Given the description of an element on the screen output the (x, y) to click on. 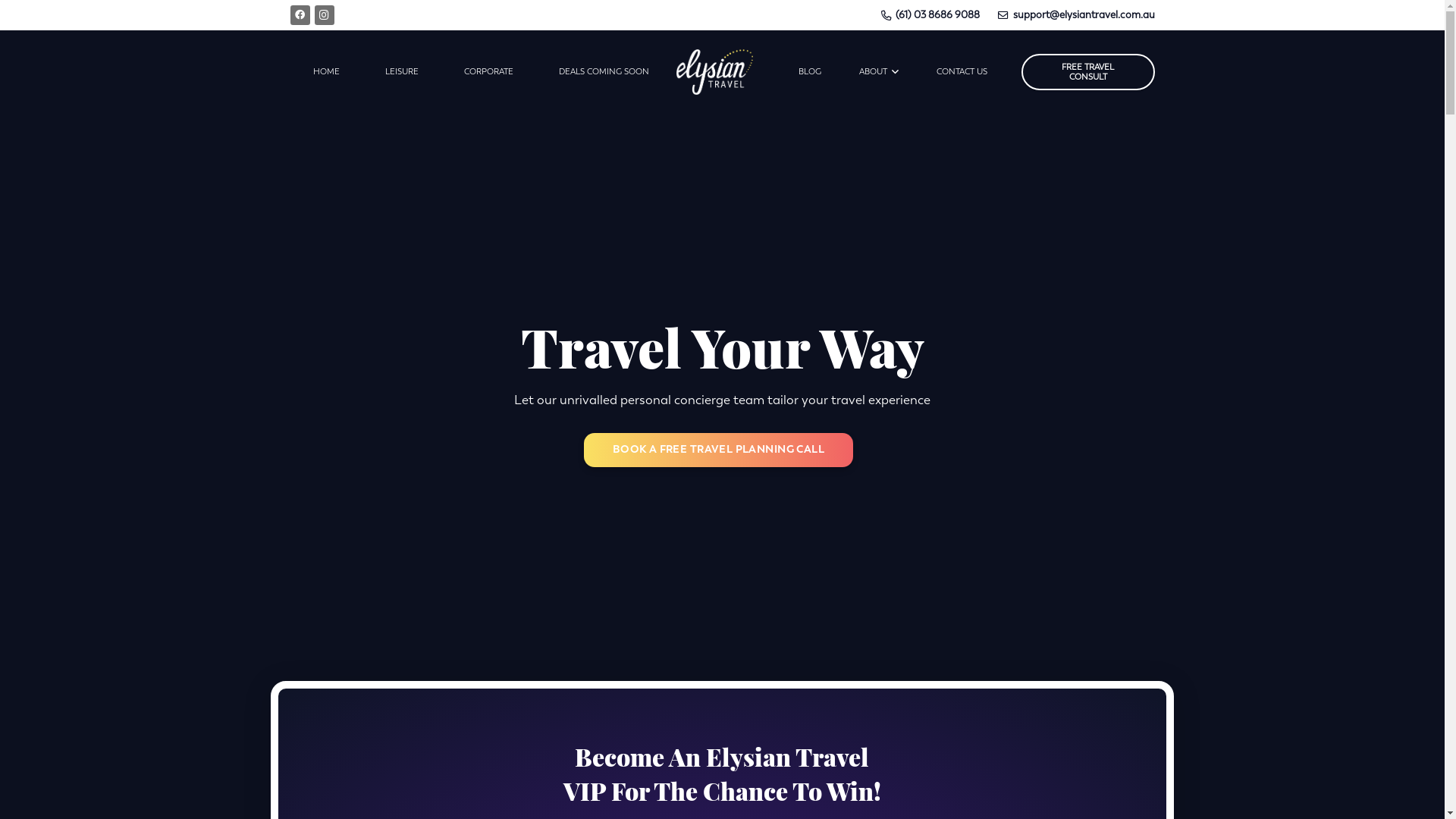
(61) 03 8686 9088 Element type: text (930, 14)
Facebook Element type: hover (299, 15)
Instagram Element type: hover (323, 15)
CONTACT US Element type: text (961, 71)
CORPORATE Element type: text (488, 71)
DEALS COMING SOON Element type: text (603, 71)
BLOG Element type: text (809, 71)
HOME Element type: text (325, 71)
BOOK A FREE TRAVEL PLANNING CALL Element type: text (718, 450)
FREE TRAVEL CONSULT Element type: text (1087, 71)
support@elysiantravel.com.au Element type: text (1075, 14)
LEISURE Element type: text (401, 71)
ABOUT Element type: text (878, 71)
